Given the description of an element on the screen output the (x, y) to click on. 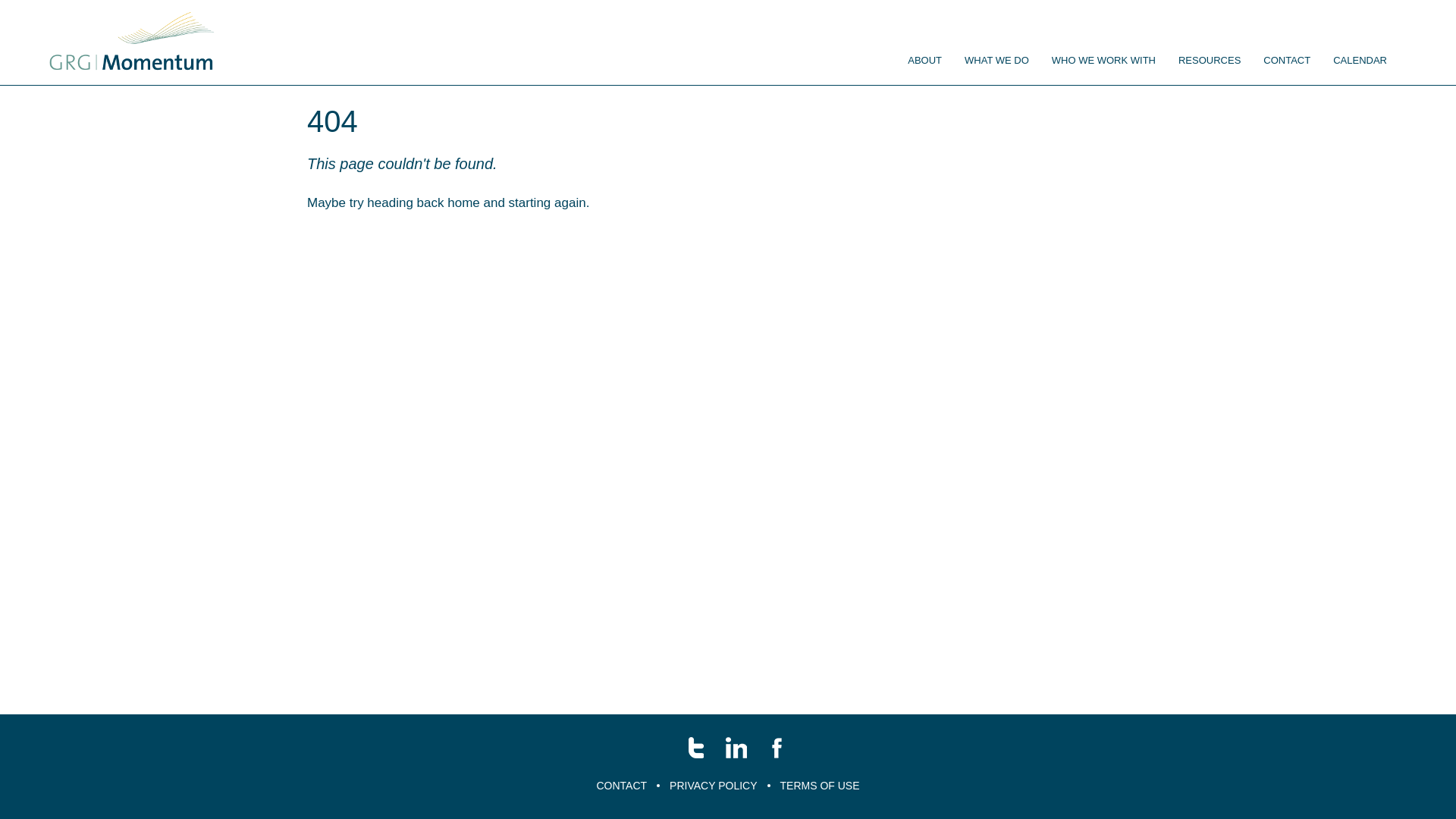
PRIVACY POLICY Element type: text (713, 785)
RESOURCES Element type: text (1209, 60)
CONTACT Element type: text (621, 785)
TERMS OF USE Element type: text (819, 785)
WHAT WE DO Element type: text (996, 60)
CONTACT Element type: text (1286, 60)
MENU NAME Element type: text (131, 41)
home Element type: text (463, 202)
ABOUT Element type: text (924, 60)
WHO WE WORK WITH Element type: text (1103, 60)
CALENDAR Element type: text (1359, 60)
